Given the description of an element on the screen output the (x, y) to click on. 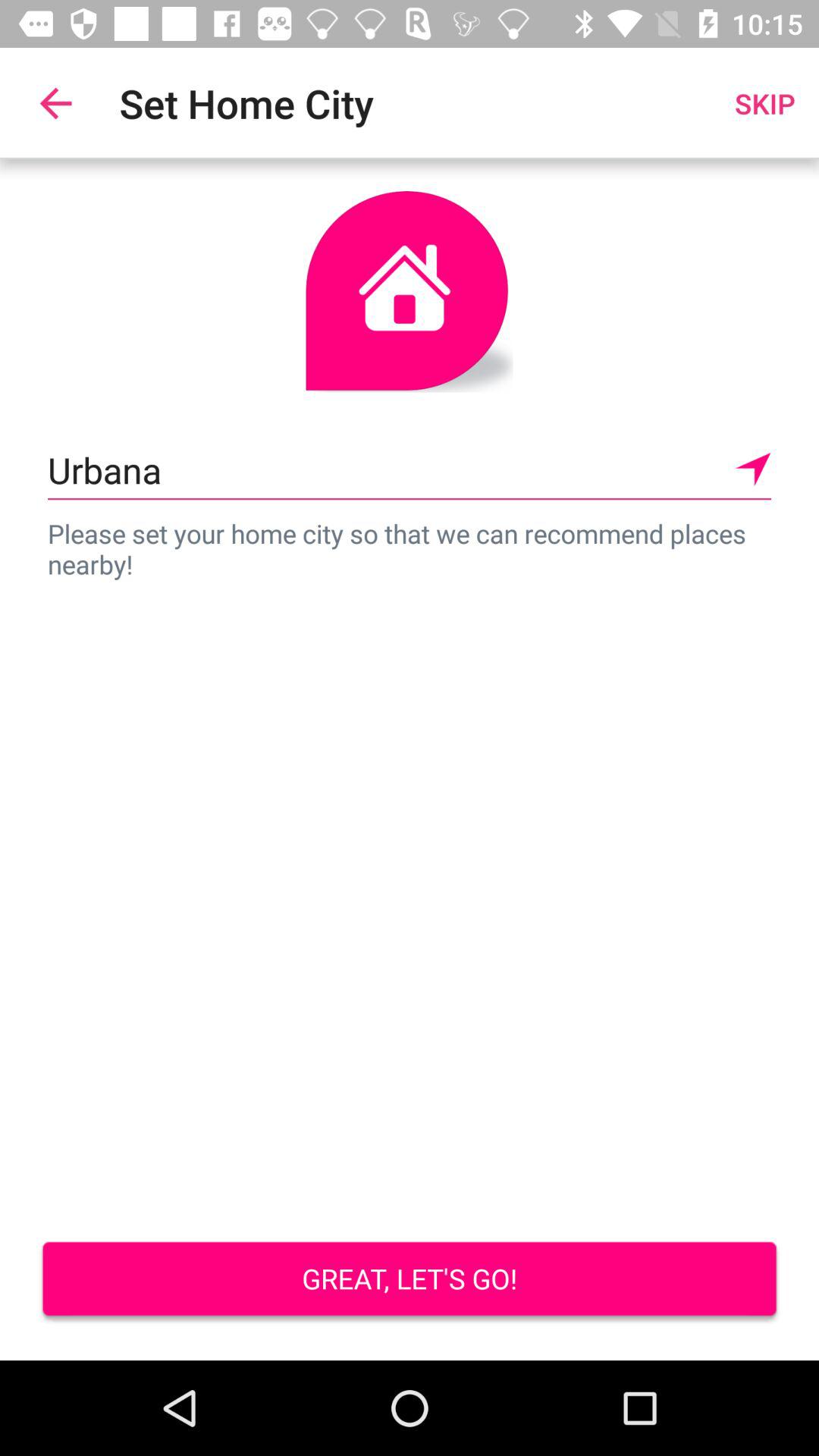
click the item to the left of the set home city item (55, 103)
